Given the description of an element on the screen output the (x, y) to click on. 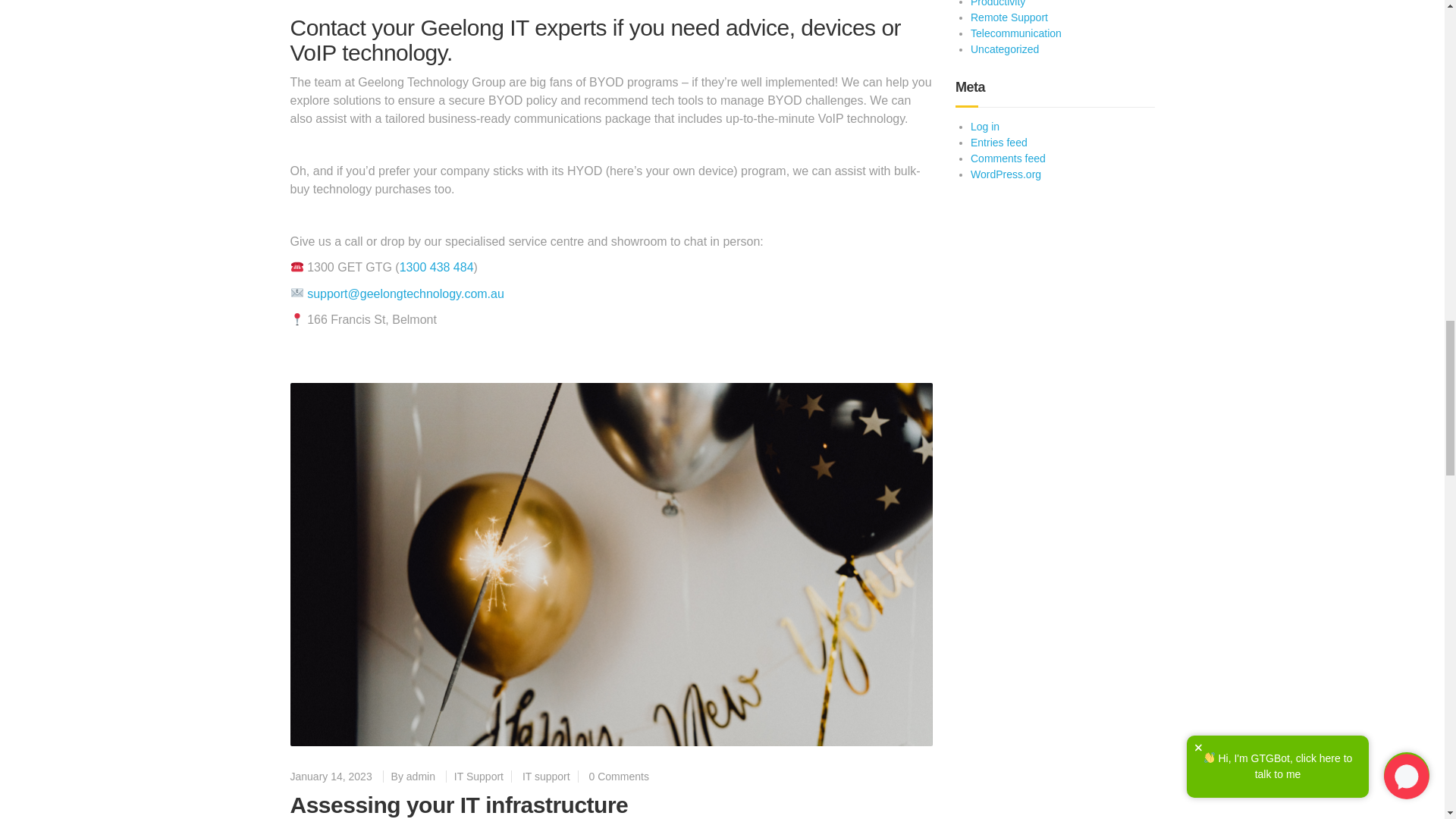
1300 438 484 (436, 267)
